Given the description of an element on the screen output the (x, y) to click on. 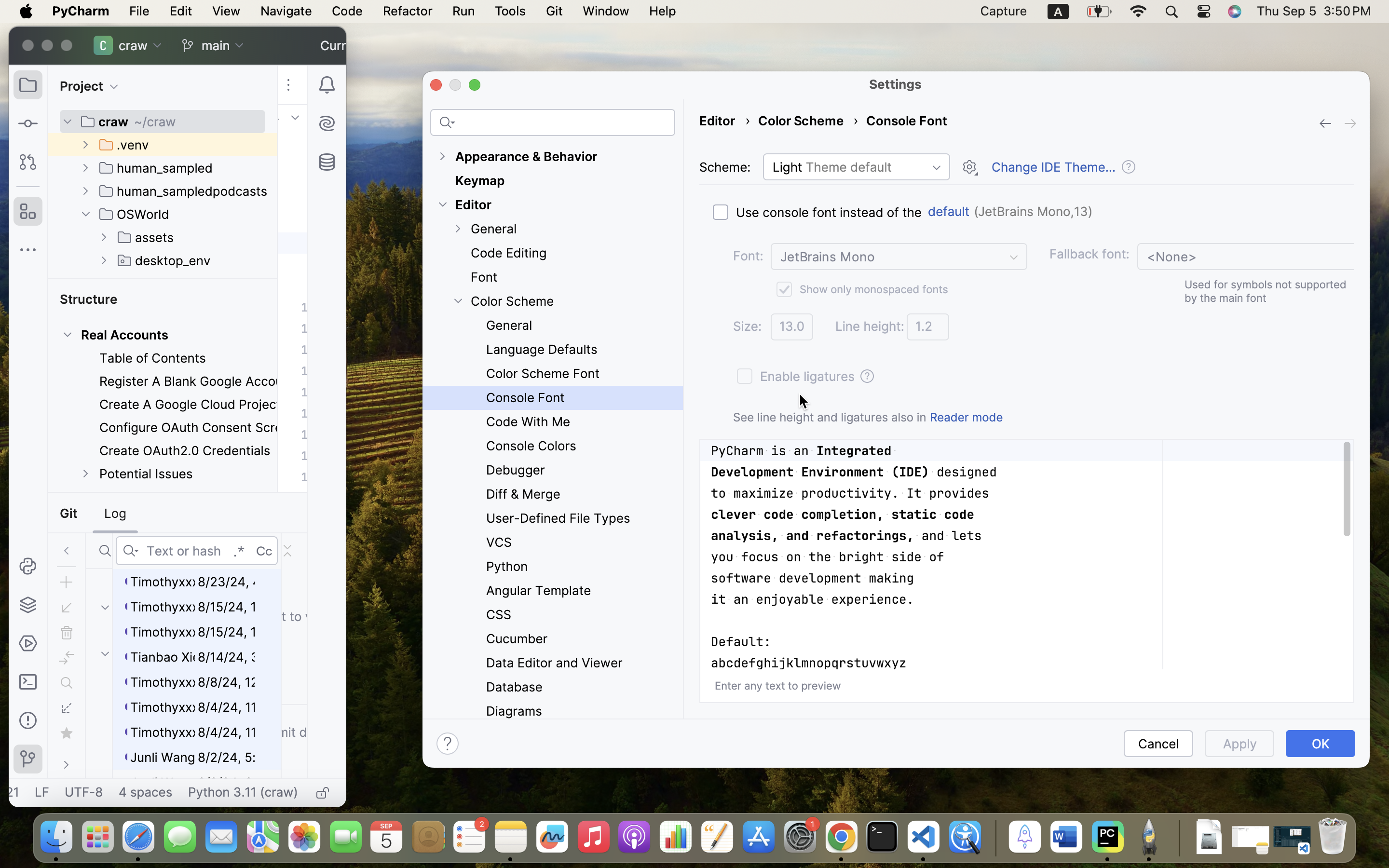
13.0 Element type: AXTextField (791, 326)
Used for symbols not supported by the main font Element type: AXStaticText (1265, 290)
0.4285714328289032 Element type: AXDockItem (993, 837)
JetBrains Mono Element type: AXPopUpButton (898, 256)
